Given the description of an element on the screen output the (x, y) to click on. 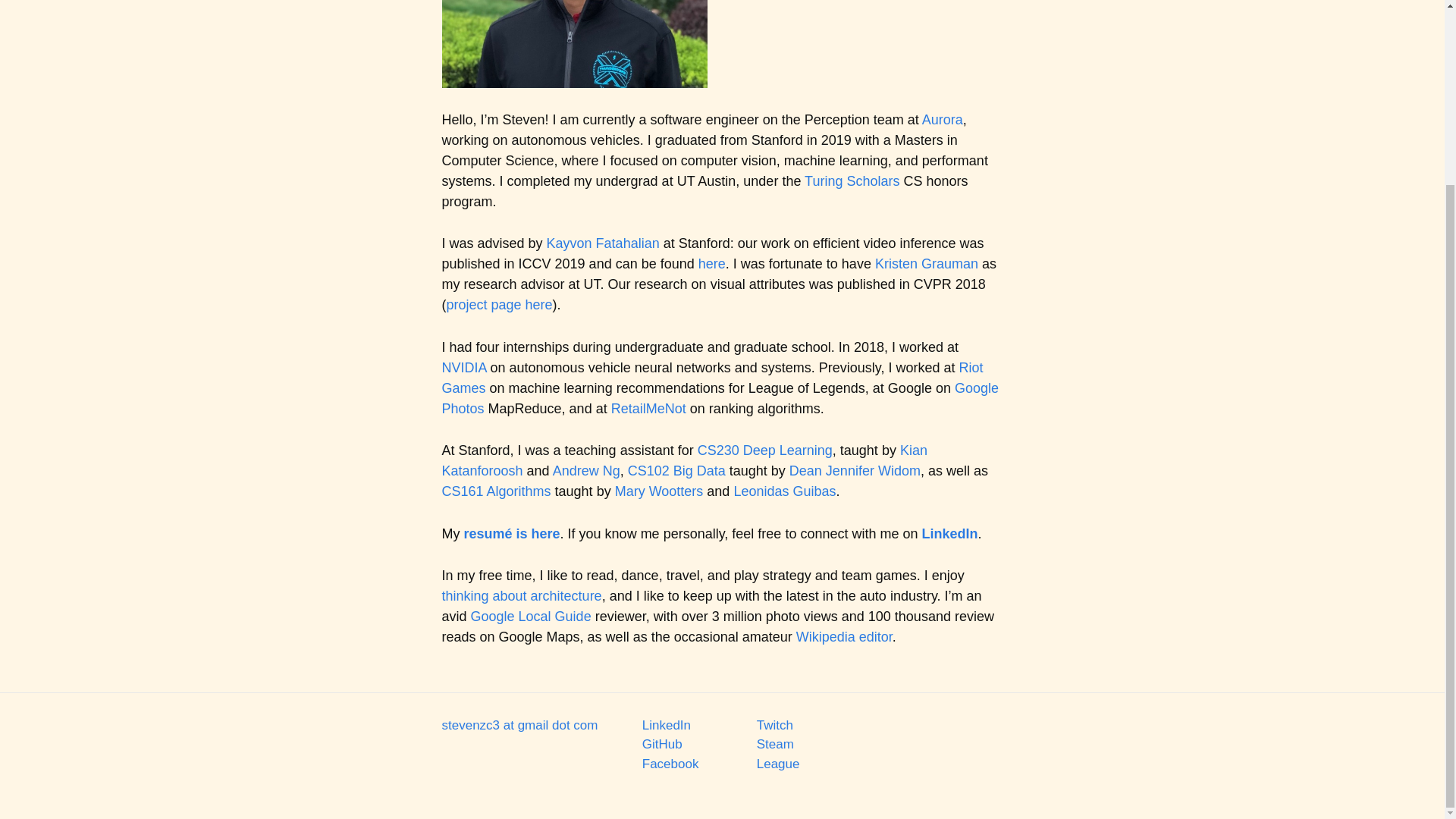
thinking about architecture (521, 595)
Kayvon Fatahalian (603, 242)
here (711, 263)
Dean Jennifer Widom (854, 470)
Andrew Ng (586, 470)
CS230 Deep Learning (764, 450)
Aurora (941, 119)
Google Local Guide (530, 616)
Turing Scholars (852, 181)
Facebook (670, 763)
Kian Katanforoosh (683, 460)
NVIDIA (463, 367)
stevenzc3 at gmail dot com (518, 725)
GitHub (662, 744)
LinkedIn (948, 533)
